Given the description of an element on the screen output the (x, y) to click on. 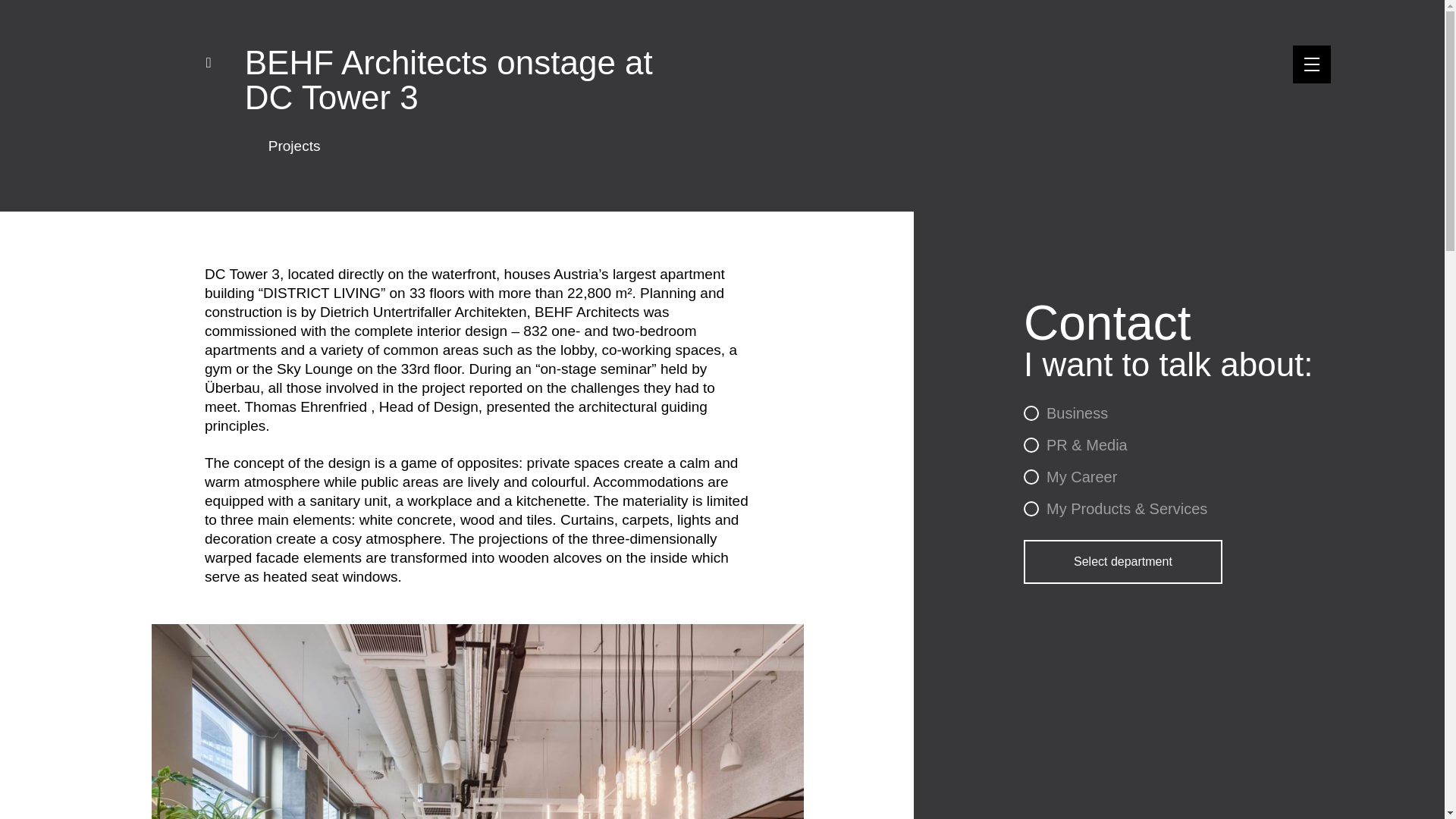
Business (1065, 413)
My Career (1069, 477)
Menu (1311, 64)
BEHF (125, 101)
Select department (1123, 561)
